Given the description of an element on the screen output the (x, y) to click on. 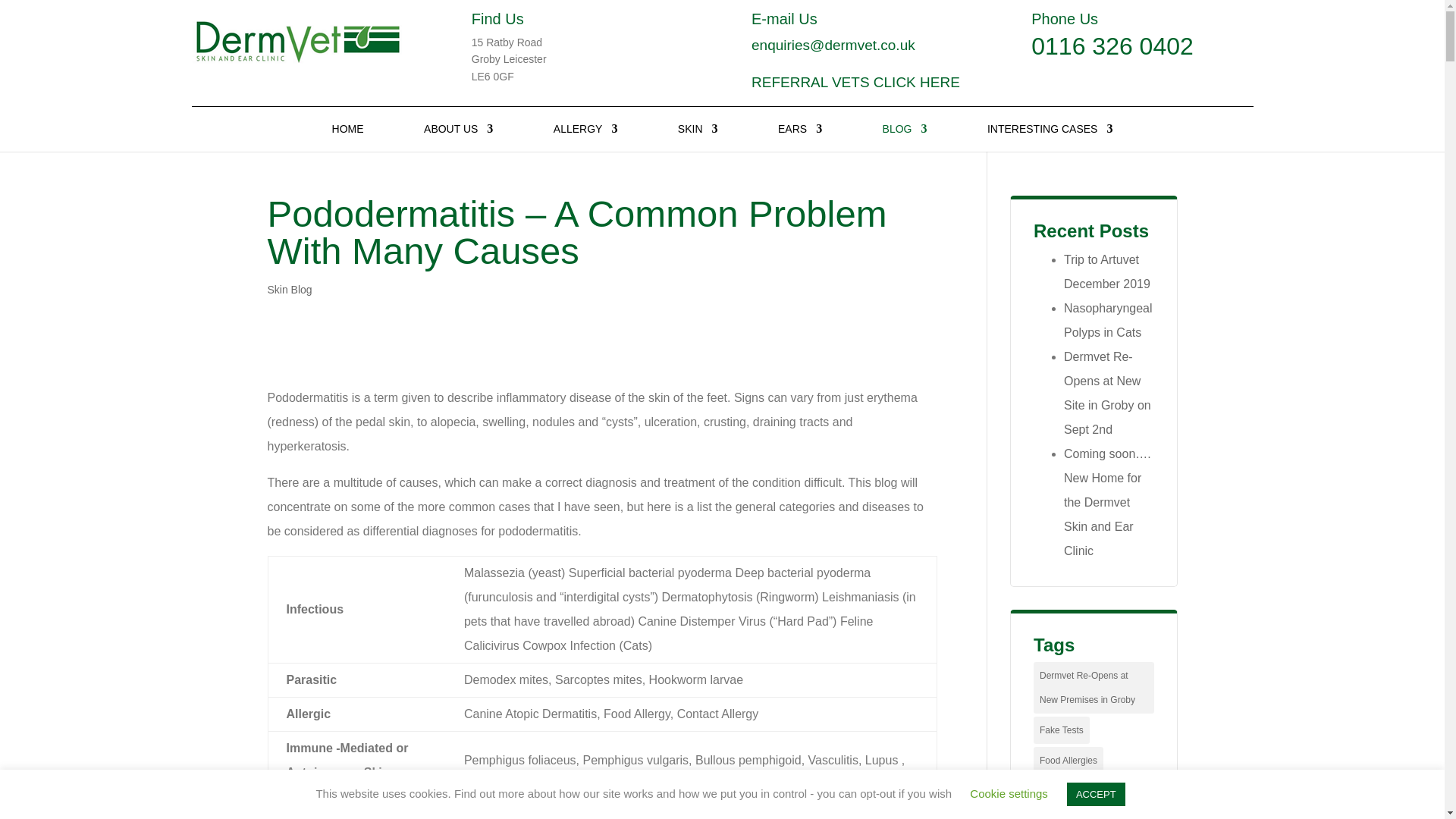
HOME (347, 137)
SKIN (697, 137)
ALLERGY (585, 137)
BLOG (904, 137)
REFERRAL VETS CLICK HERE (855, 82)
0116 326 0402 (1111, 45)
ABOUT US (458, 137)
INTERESTING CASES (1049, 137)
EARS (799, 137)
